Given the description of an element on the screen output the (x, y) to click on. 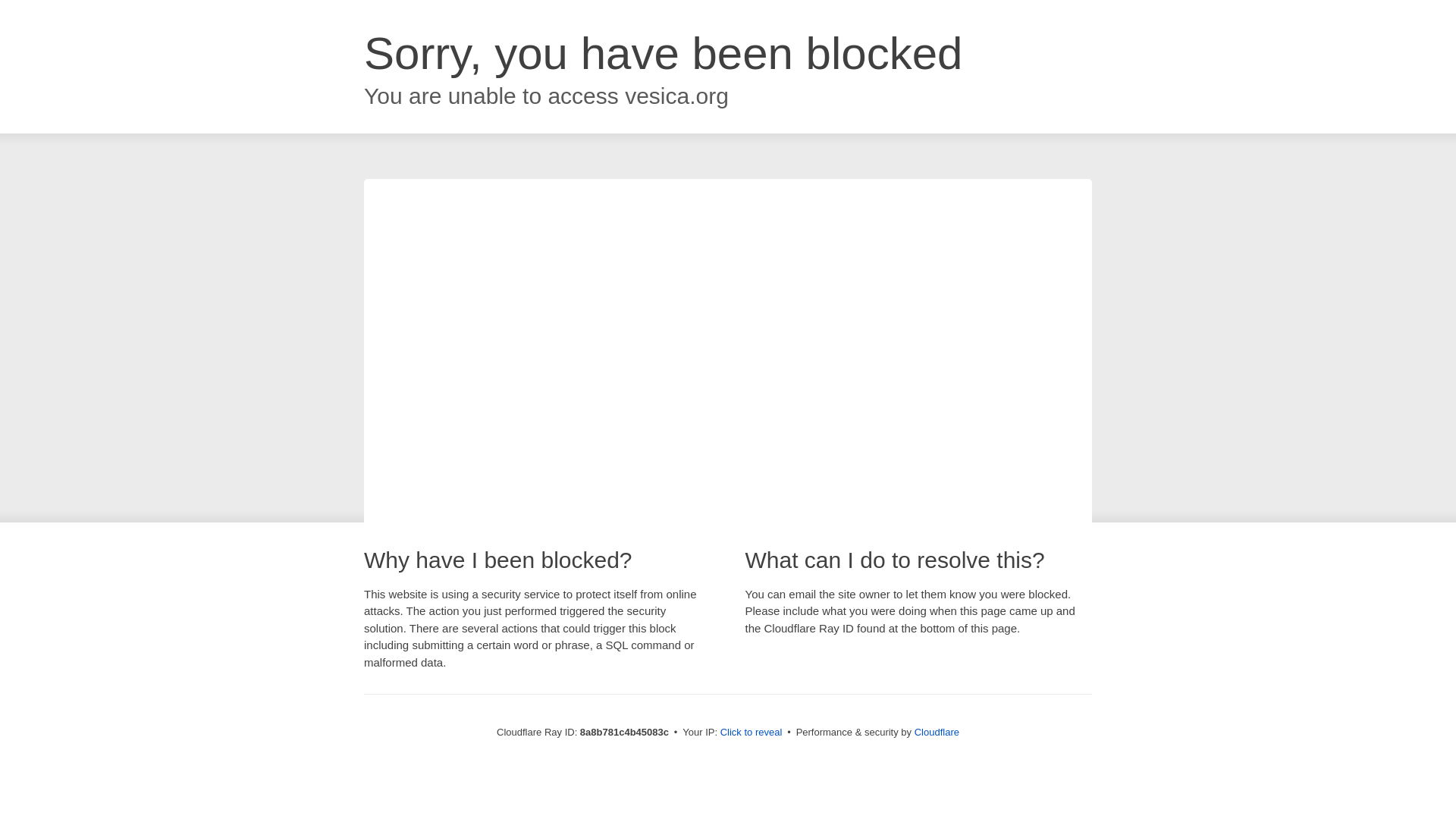
Click to reveal (751, 732)
Cloudflare (936, 731)
